Given the description of an element on the screen output the (x, y) to click on. 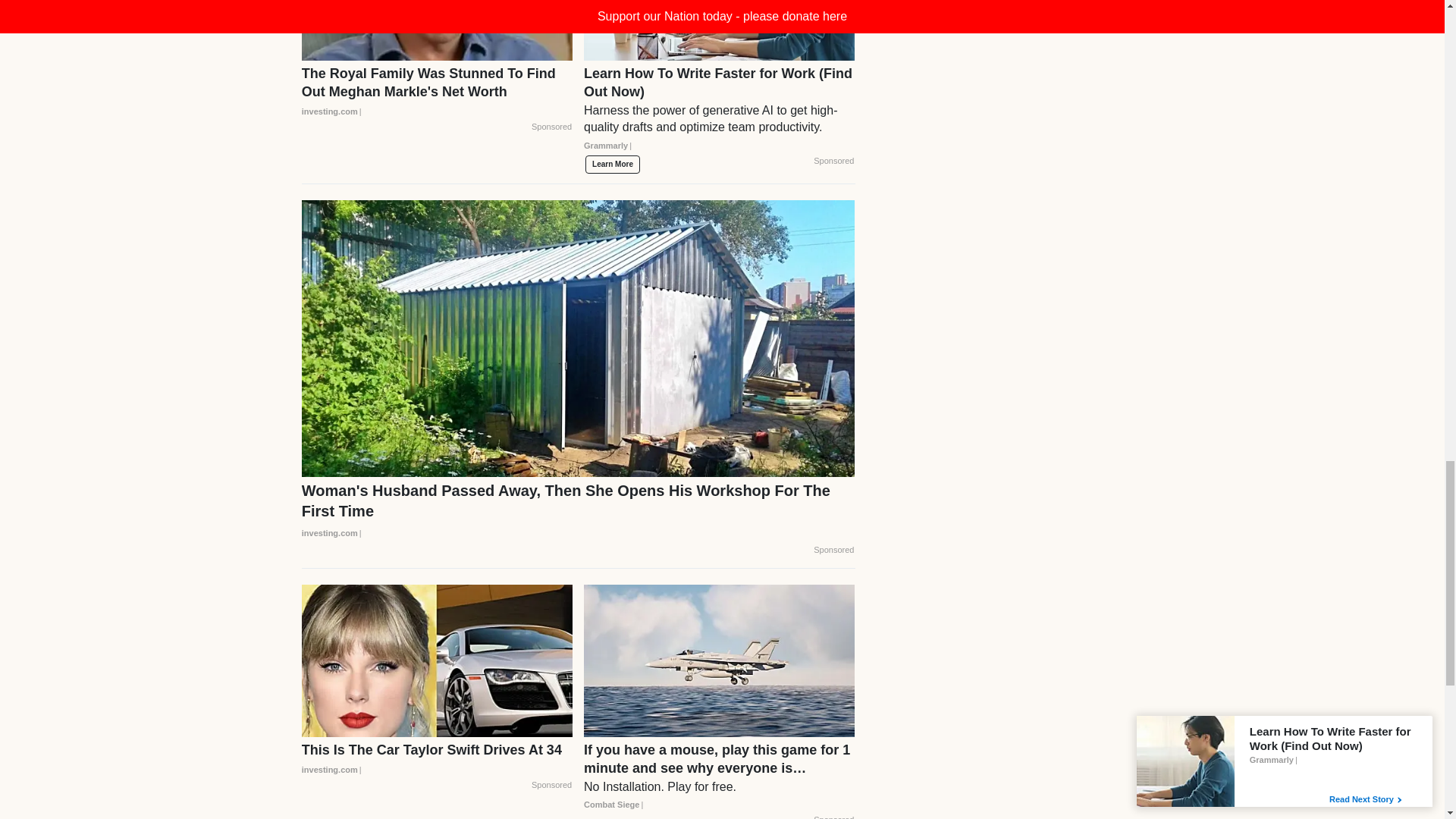
Sponsored (833, 161)
Sponsored (551, 127)
This Is The Car Taylor Swift Drives At 34 (436, 759)
